Given the description of an element on the screen output the (x, y) to click on. 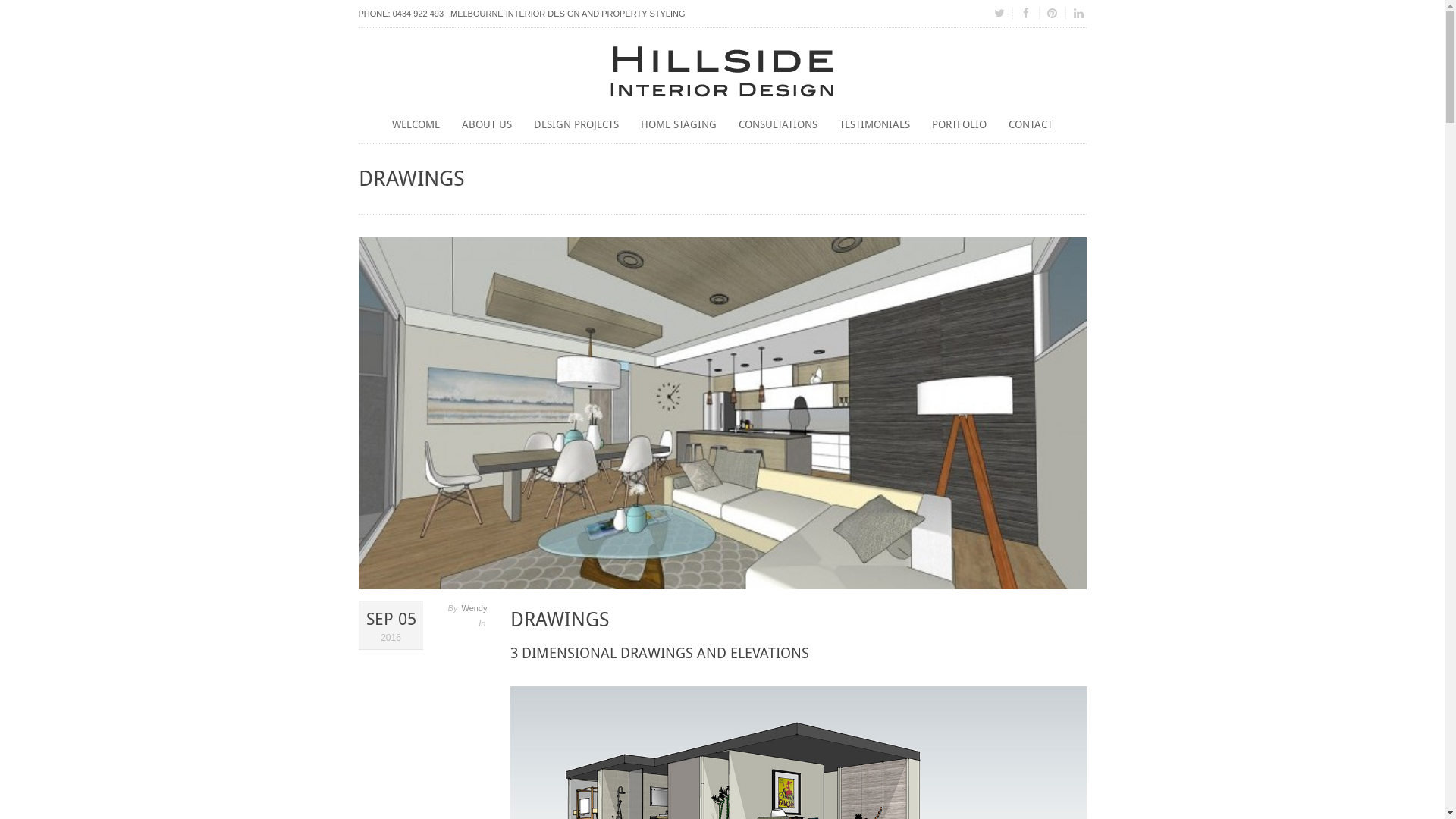
CONSULTATIONS Element type: text (777, 126)
CONTACT Element type: text (1030, 126)
DESIGN PROJECTS Element type: text (575, 126)
TESTIMONIALS Element type: text (874, 126)
HOME STAGING Element type: text (678, 126)
Wendy Element type: text (473, 607)
PORTFOLIO Element type: text (958, 126)
WELCOME Element type: text (415, 126)
DRAWINGS Element type: text (558, 619)
ABOUT US Element type: text (486, 126)
